Given the description of an element on the screen output the (x, y) to click on. 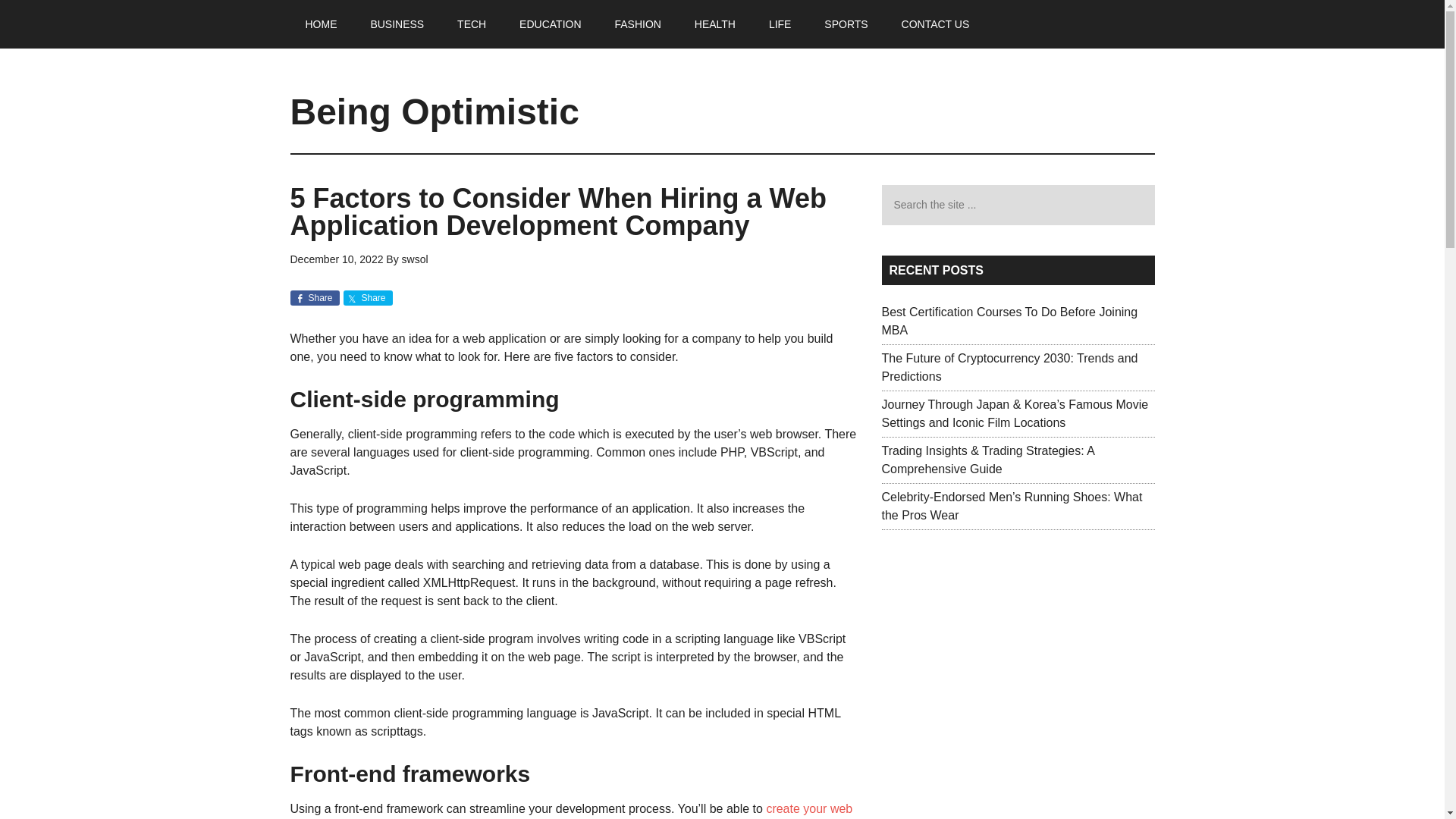
Best Certification Courses To Do Before Joining MBA (1008, 320)
Share (366, 297)
Share (314, 297)
EDUCATION (549, 24)
CONTACT US (935, 24)
create your web application (570, 810)
HEALTH (715, 24)
SPORTS (845, 24)
TECH (471, 24)
BUSINESS (397, 24)
LIFE (780, 24)
